Given the description of an element on the screen output the (x, y) to click on. 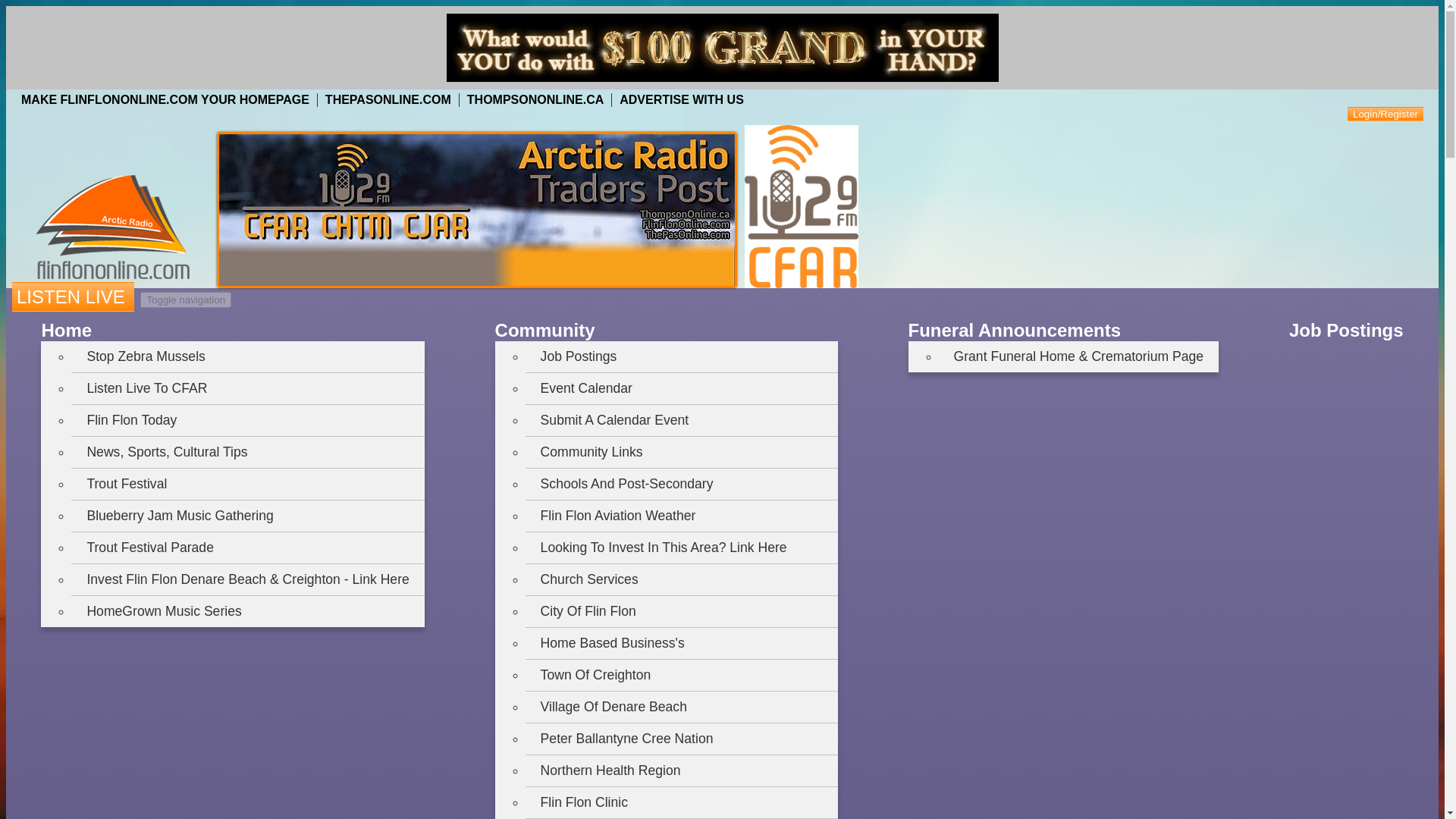
Blueberry Jam Music Gathering (247, 515)
MAKE FLINFLONONLINE.COM YOUR HOMEPAGE (164, 99)
Community (545, 330)
Flin Flon Today (247, 419)
THOMPSONONLINE.CA (535, 99)
Church Services (681, 579)
HomeGrown Music Series (247, 611)
ADVERTISE WITH US (682, 99)
Job Postings (681, 356)
THEPASONLINE.COM (387, 99)
Toggle navigation (185, 299)
Submit A Calendar Event (681, 419)
Stop Zebra Mussels (247, 356)
Community Links (681, 451)
Event Calendar (681, 388)
